Given the description of an element on the screen output the (x, y) to click on. 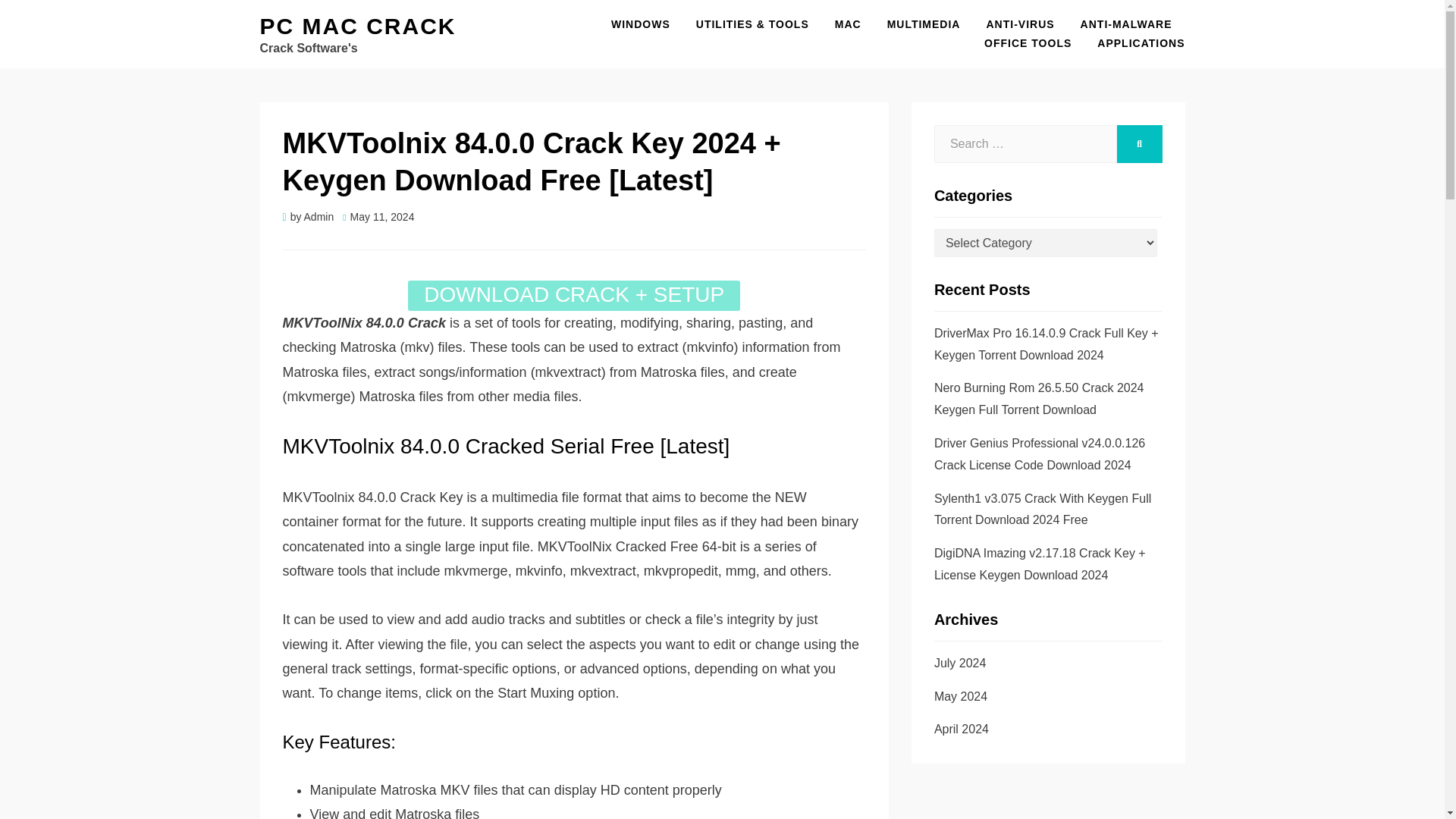
PC MAC CRACK (357, 25)
OFFICE TOOLS (1027, 43)
May 11, 2024 (377, 216)
APPLICATIONS (1134, 43)
PC MAC Crack (357, 25)
ANTI-VIRUS (1019, 24)
MAC (848, 24)
Admin (319, 216)
MULTIMEDIA (924, 24)
Search for: (1025, 143)
WINDOWS (640, 24)
ANTI-MALWARE (1126, 24)
